Given the description of an element on the screen output the (x, y) to click on. 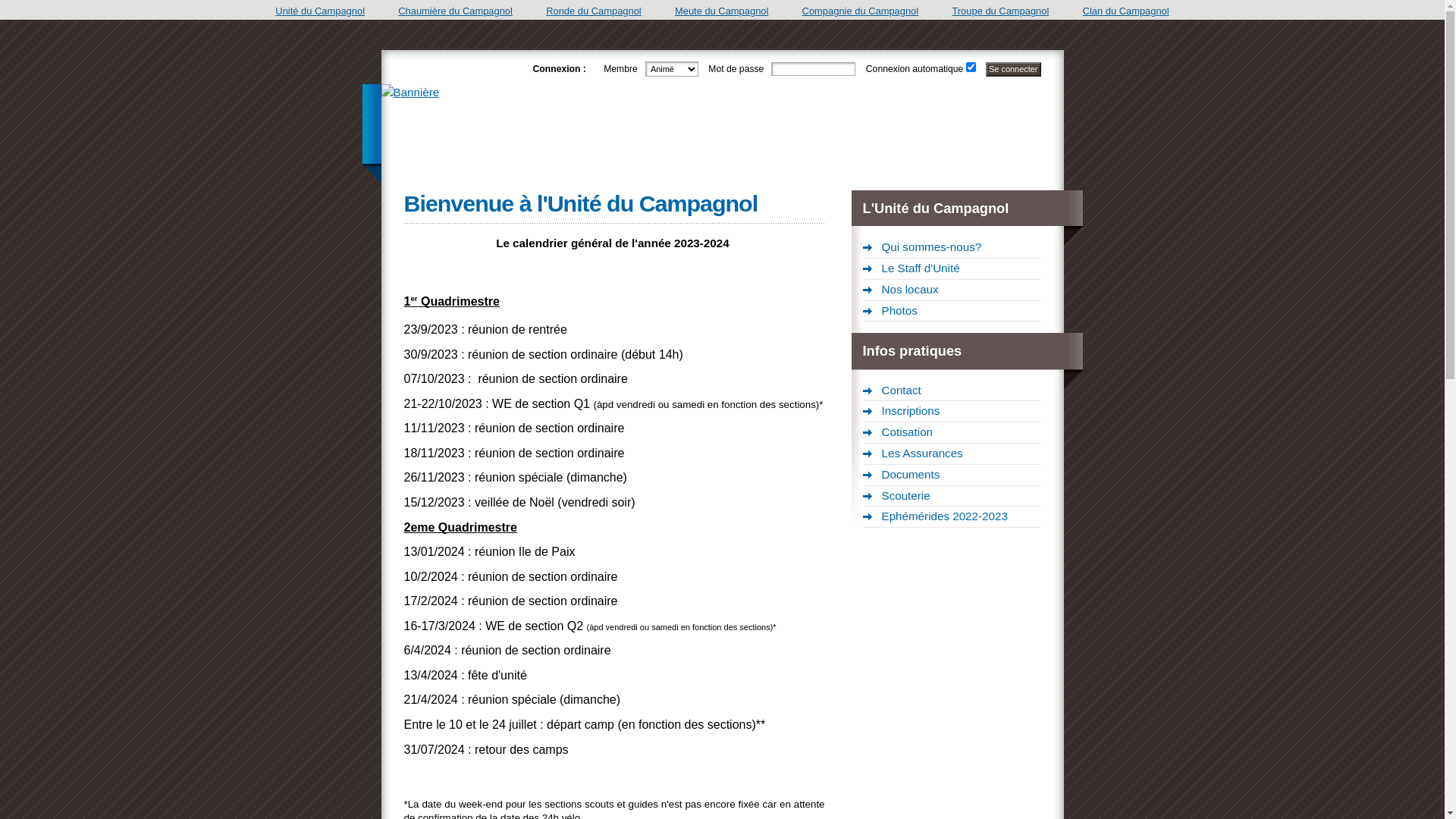
Scouterie Element type: text (951, 496)
Se connecter Element type: text (1012, 69)
Qui sommes-nous? Element type: text (951, 247)
Contact Element type: text (951, 390)
Cotisation Element type: text (951, 432)
Clan du Campagnol Element type: text (1125, 10)
Ronde du Campagnol Element type: text (593, 10)
Meute du Campagnol Element type: text (721, 10)
Compagnie du Campagnol Element type: text (860, 10)
Les Assurances Element type: text (951, 453)
Troupe du Campagnol Element type: text (999, 10)
Nos locaux Element type: text (951, 290)
Photos Element type: text (951, 311)
Documents Element type: text (951, 475)
Inscriptions Element type: text (951, 411)
